Given the description of an element on the screen output the (x, y) to click on. 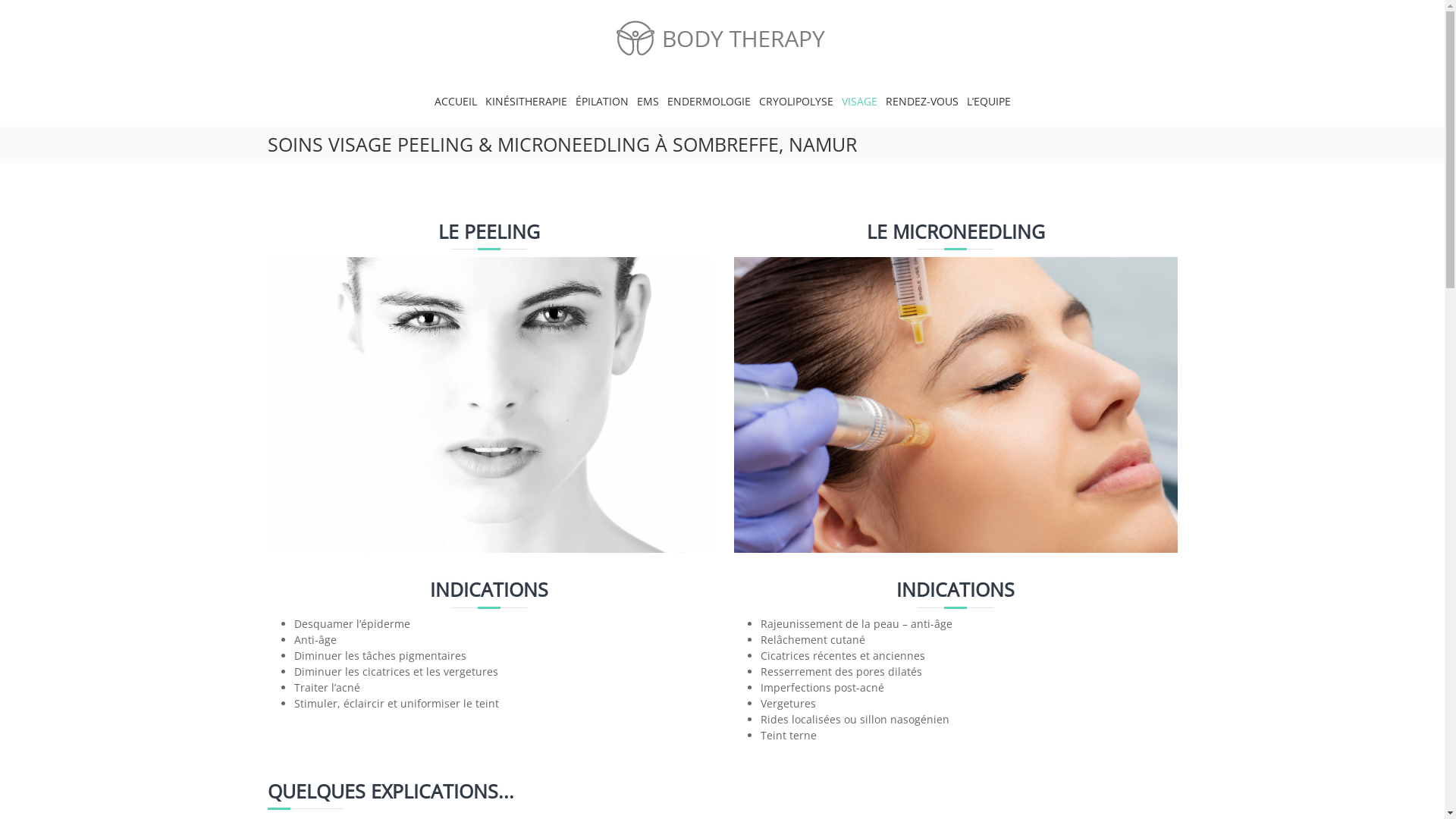
ACCUEIL Element type: text (454, 101)
RENDEZ-VOUS Element type: text (921, 101)
ENDERMOLOGIE Element type: text (708, 101)
Body Therapy Sombreffe Element type: text (657, 111)
CRYOLIPOLYSE Element type: text (795, 101)
VISAGE Element type: text (859, 101)
EMS Element type: text (647, 101)
